Given the description of an element on the screen output the (x, y) to click on. 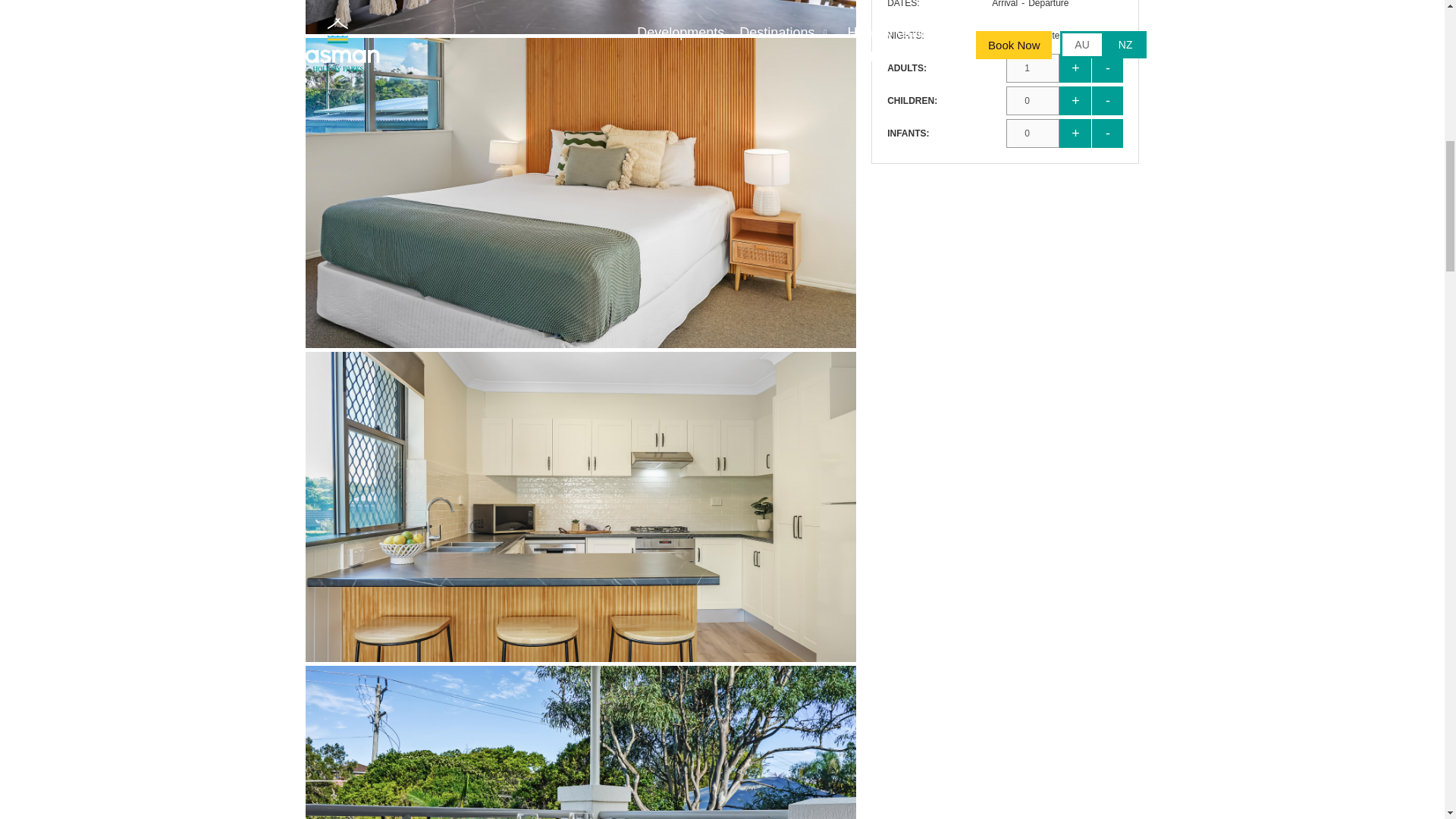
0 (1032, 100)
0 (1032, 133)
1 (1032, 68)
